Given the description of an element on the screen output the (x, y) to click on. 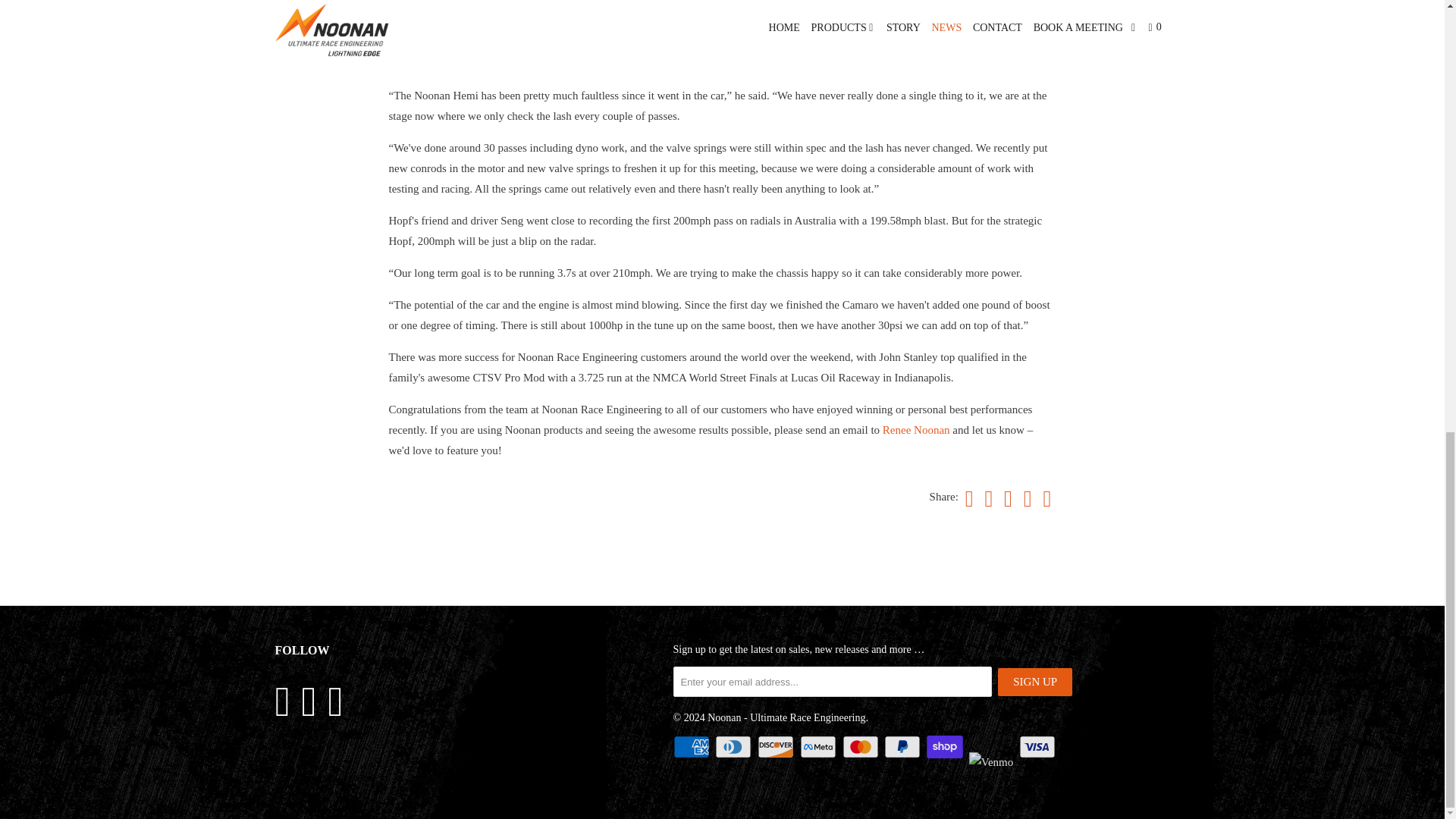
Sign Up (1034, 682)
